Given the description of an element on the screen output the (x, y) to click on. 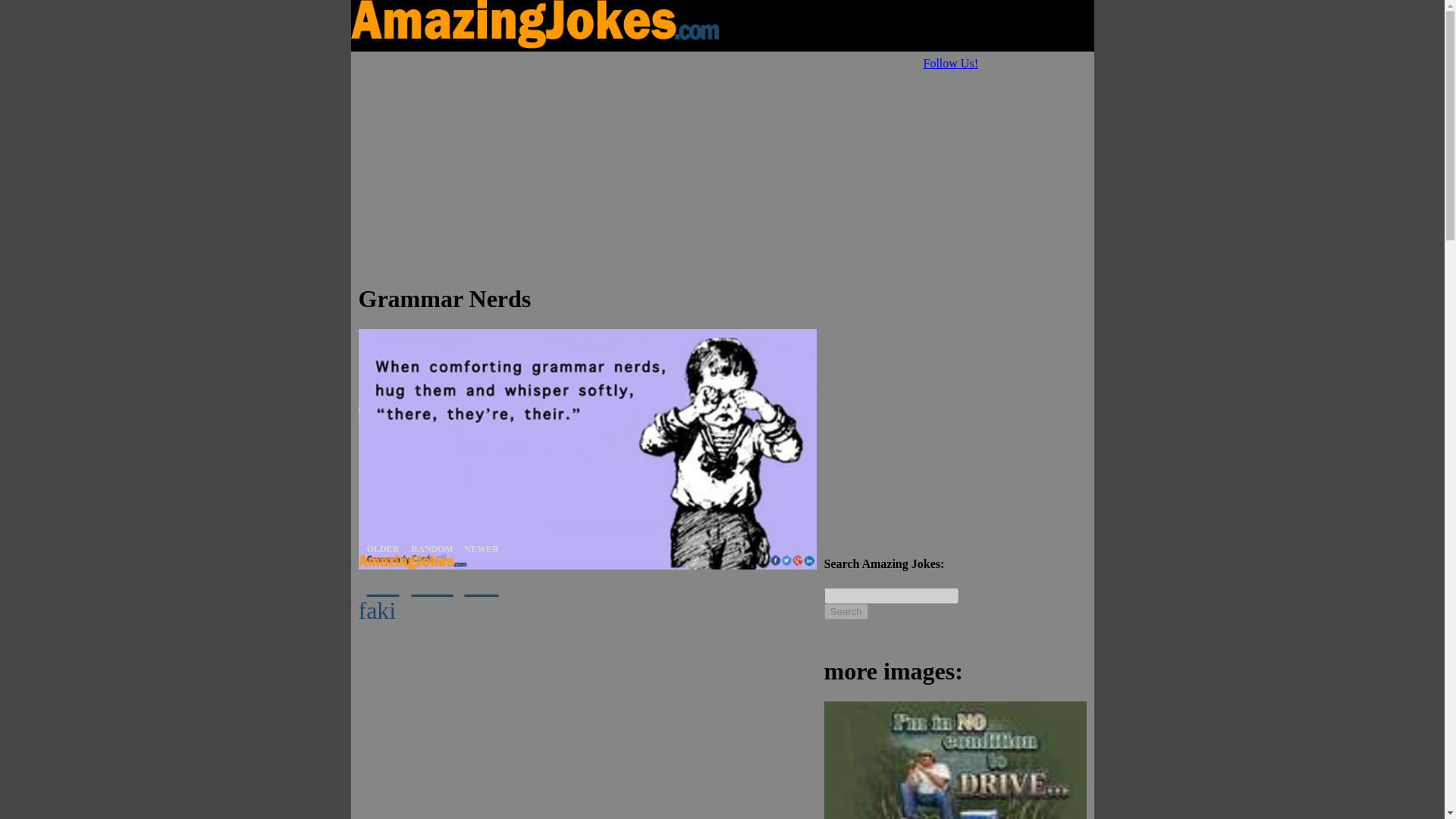
RANDOM (432, 583)
OLDER (382, 583)
NEWER (481, 583)
